Given the description of an element on the screen output the (x, y) to click on. 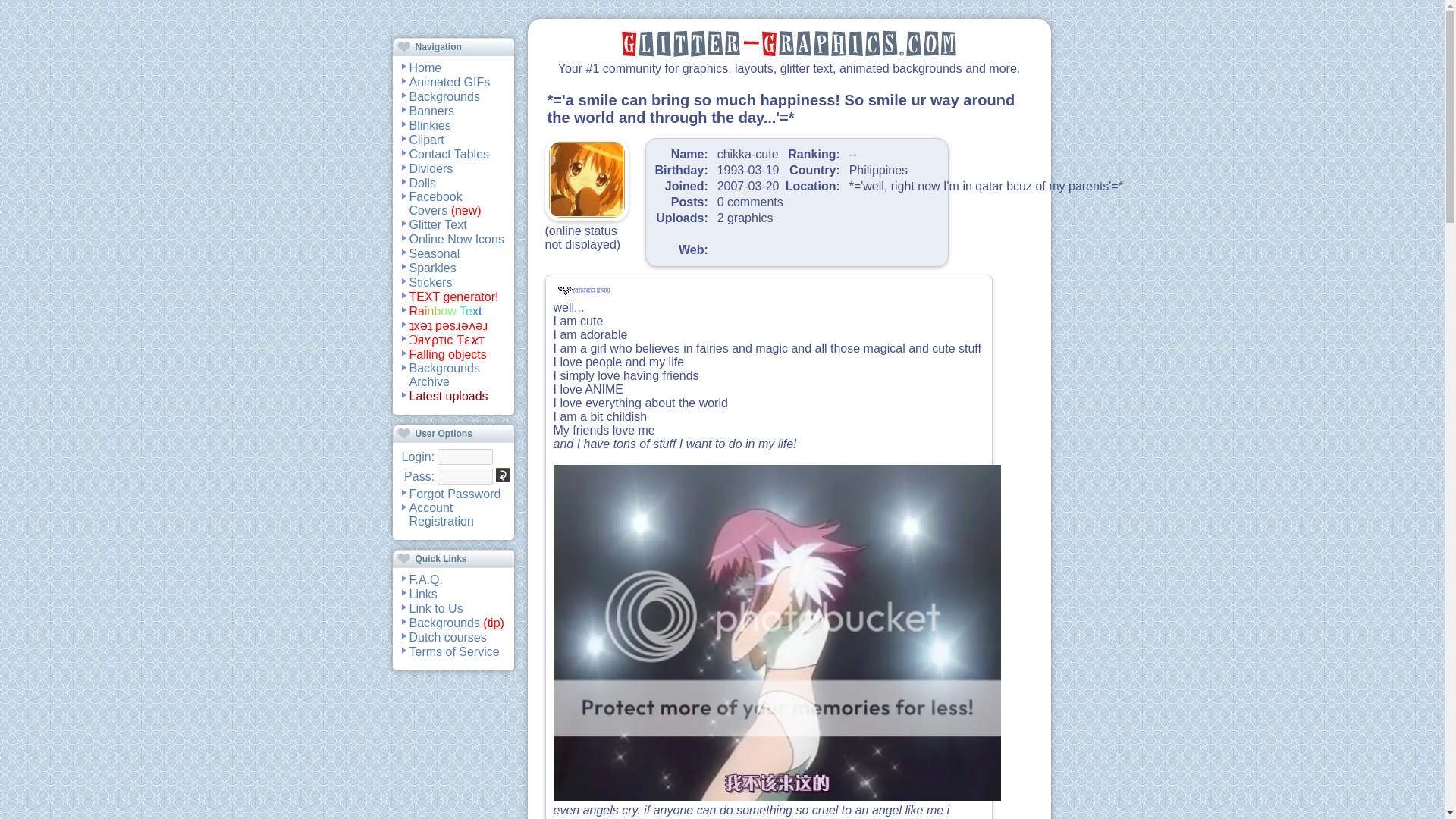
Backgrounds (444, 95)
Stickers (430, 282)
Rainbow Text (445, 310)
F.A.Q. (425, 579)
Blinkies (430, 124)
Seasonal (434, 253)
Dutch courses (447, 636)
Dividers (430, 168)
Sparkles (433, 267)
Online Now Icons (456, 237)
Animated GIFs (449, 82)
Backgrounds Archive (444, 374)
Facebook Covers (436, 203)
Terms of Service (454, 650)
Home (425, 66)
